Given the description of an element on the screen output the (x, y) to click on. 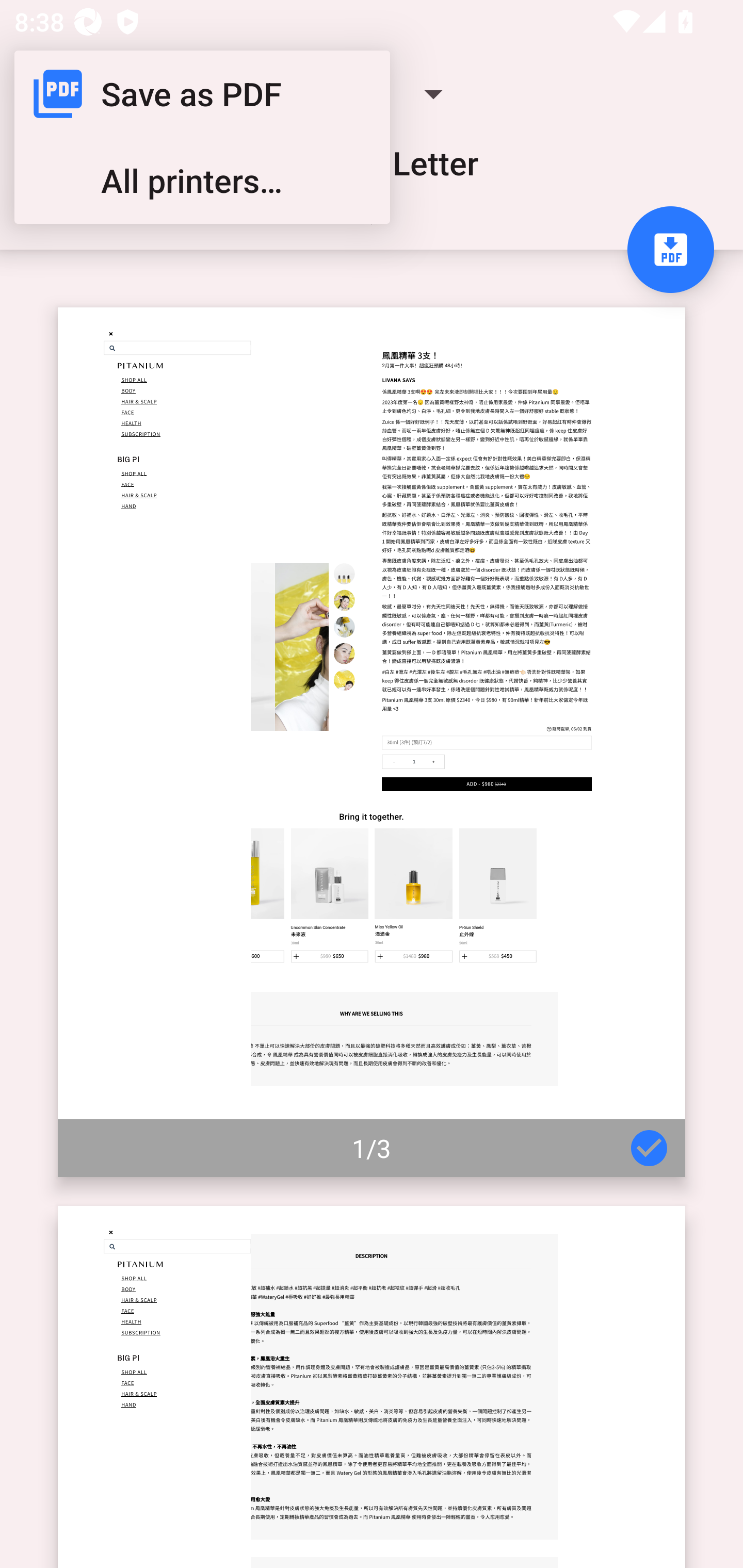
Save as PDF (202, 93)
All printers… (202, 180)
